Given the description of an element on the screen output the (x, y) to click on. 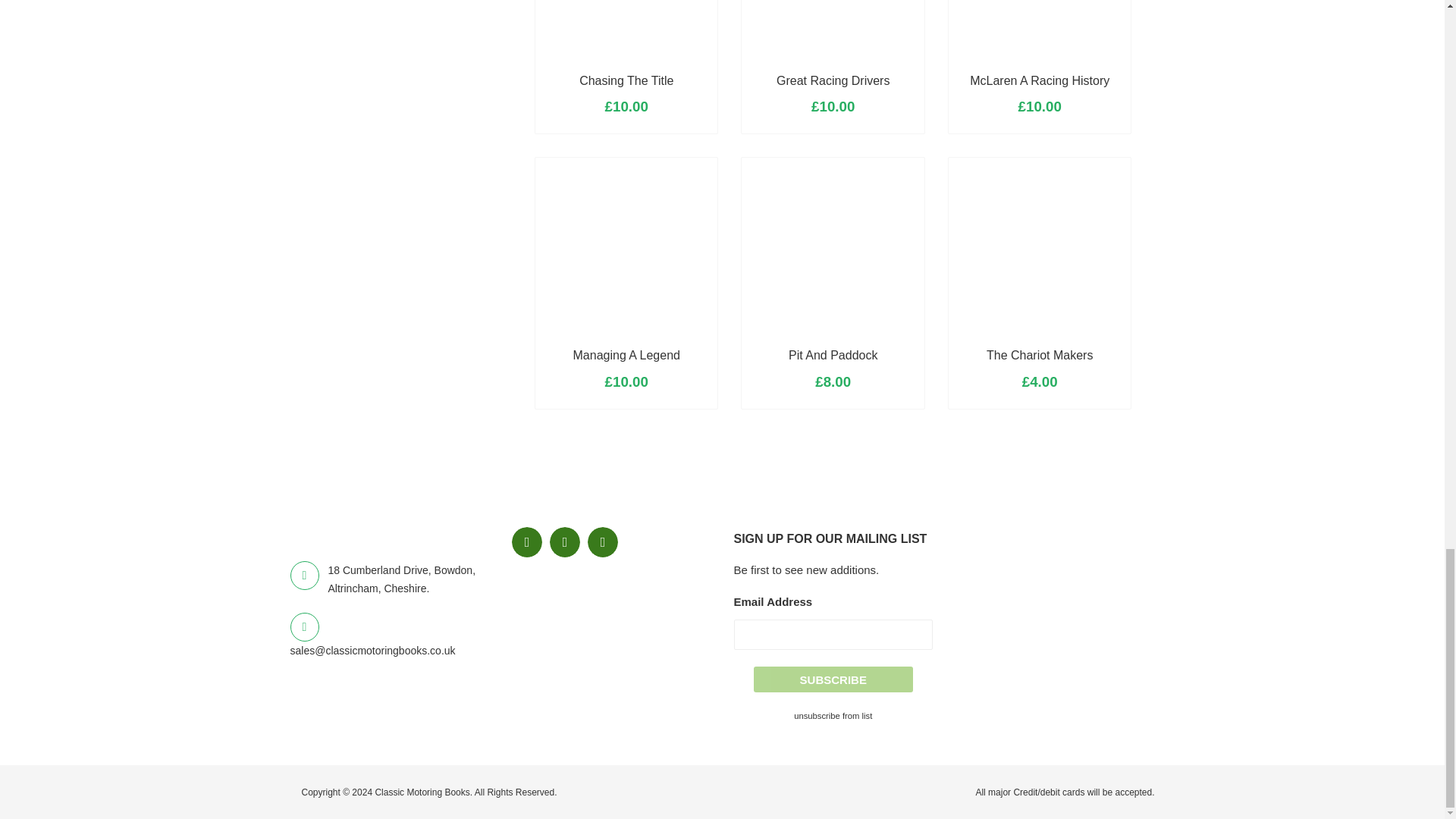
Subscribe (833, 679)
